Given the description of an element on the screen output the (x, y) to click on. 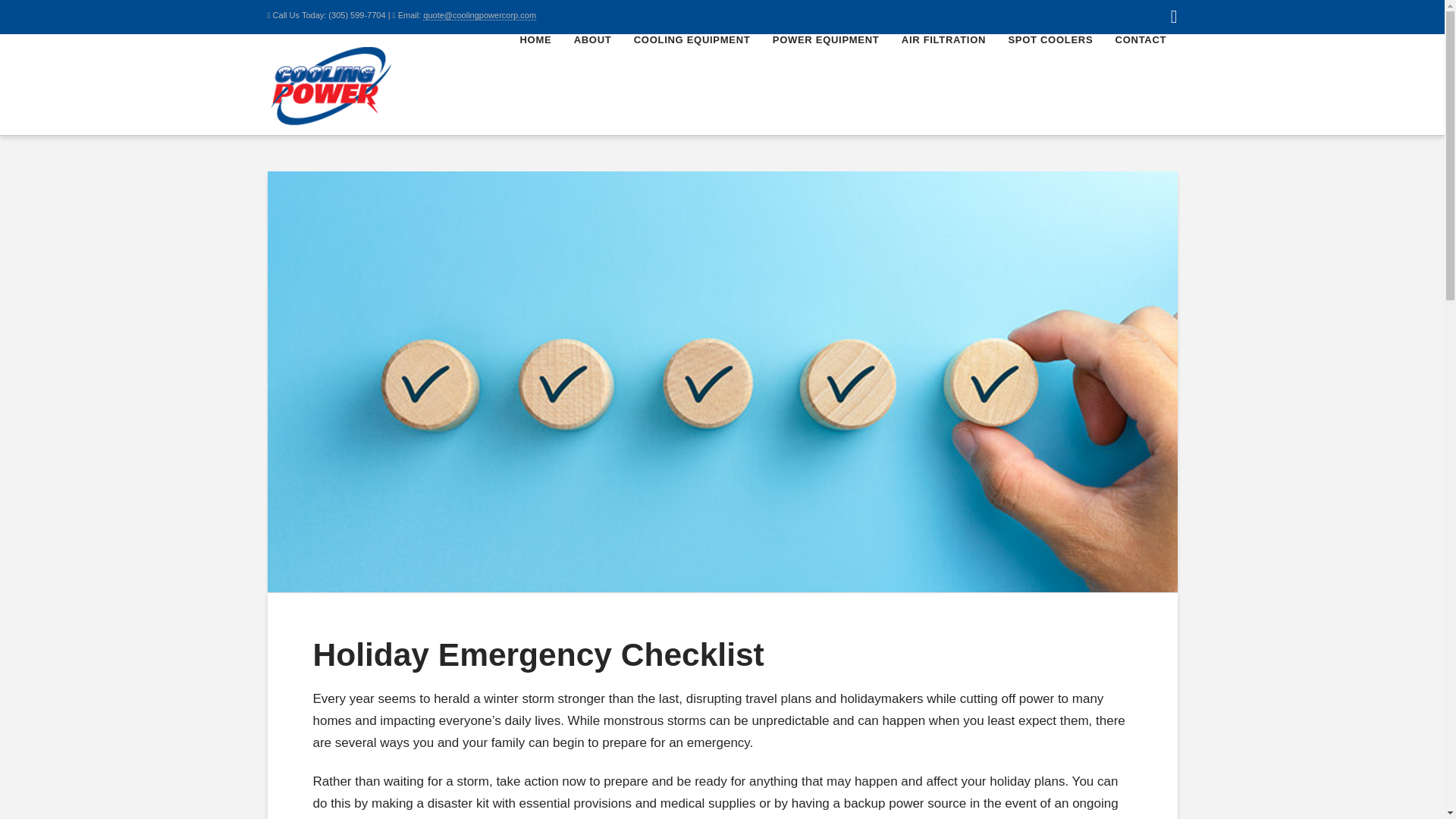
CONTACT (1140, 69)
COOLING EQUIPMENT (692, 69)
AIR FILTRATION (943, 69)
POWER EQUIPMENT (825, 69)
SPOT COOLERS (1049, 69)
